Given the description of an element on the screen output the (x, y) to click on. 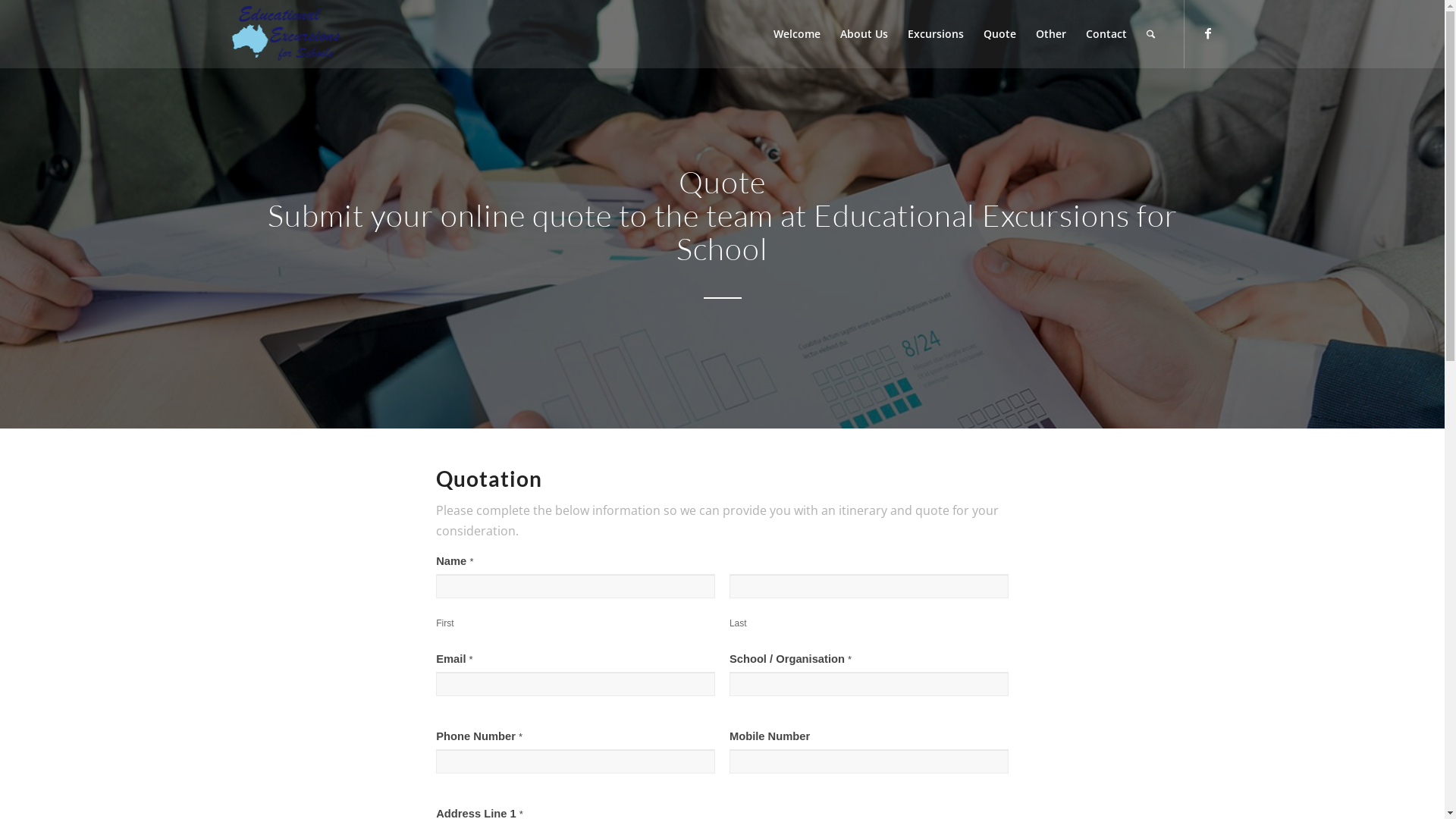
Facebook Element type: hover (1207, 32)
Welcome Element type: text (795, 34)
Other Element type: text (1050, 34)
Quote Element type: text (999, 34)
Contact Element type: text (1105, 34)
Excursions Element type: text (935, 34)
About Us Element type: text (863, 34)
